Given the description of an element on the screen output the (x, y) to click on. 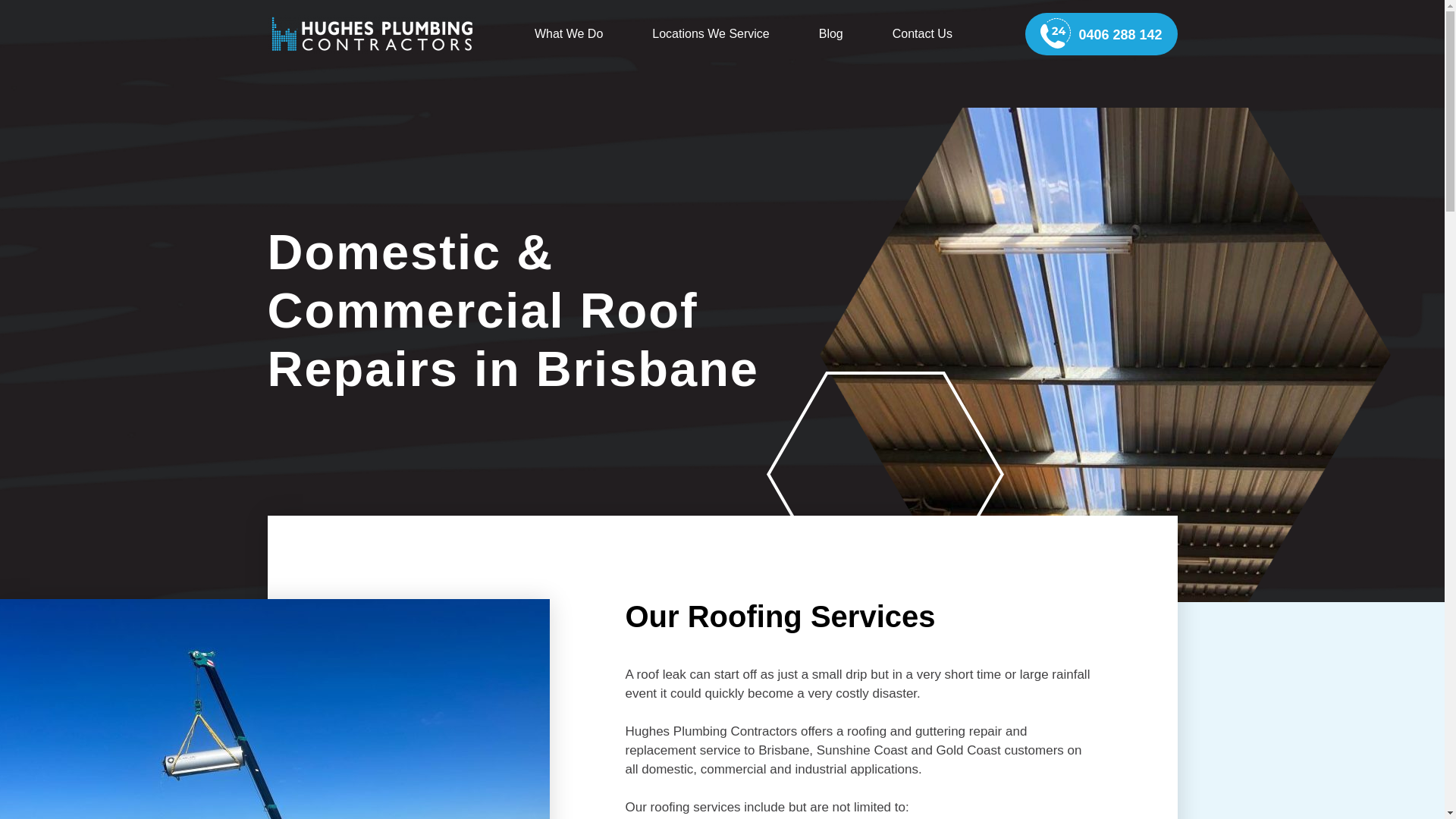
What We Do (568, 33)
Locations We Service (710, 33)
